Given the description of an element on the screen output the (x, y) to click on. 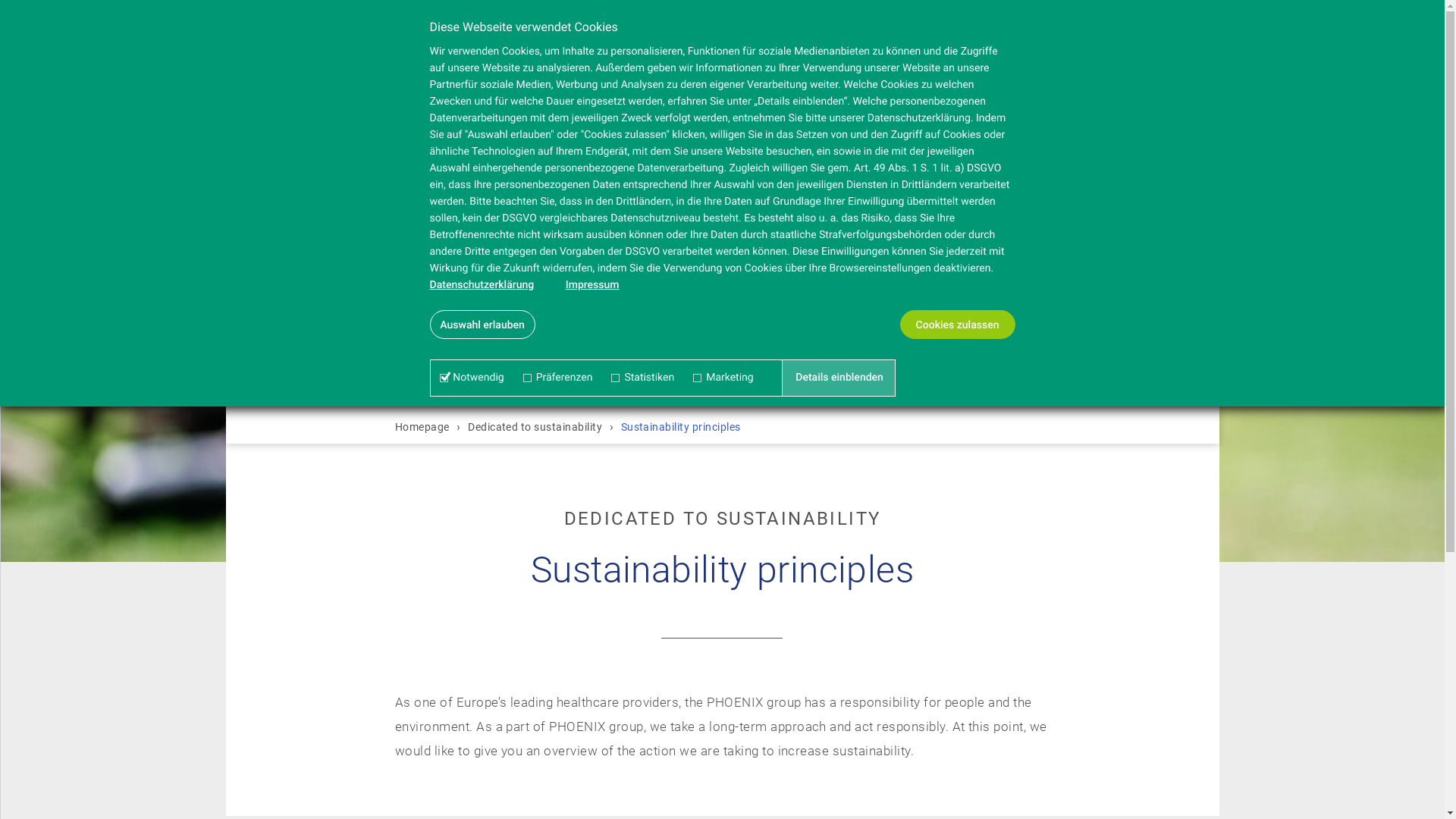
Auswahl erlauben Element type: text (481, 324)
Dedicated to sustainability Element type: text (534, 426)
Details einblenden Element type: text (839, 377)
DEDICATED TO SUSTAINABILITY Element type: text (722, 526)
Homepage Element type: text (424, 426)
Sustainability principles Element type: text (680, 426)
EN Element type: text (347, 39)
Impressum Element type: text (592, 285)
BA Element type: text (308, 39)
Cookies zulassen Element type: text (957, 324)
